Given the description of an element on the screen output the (x, y) to click on. 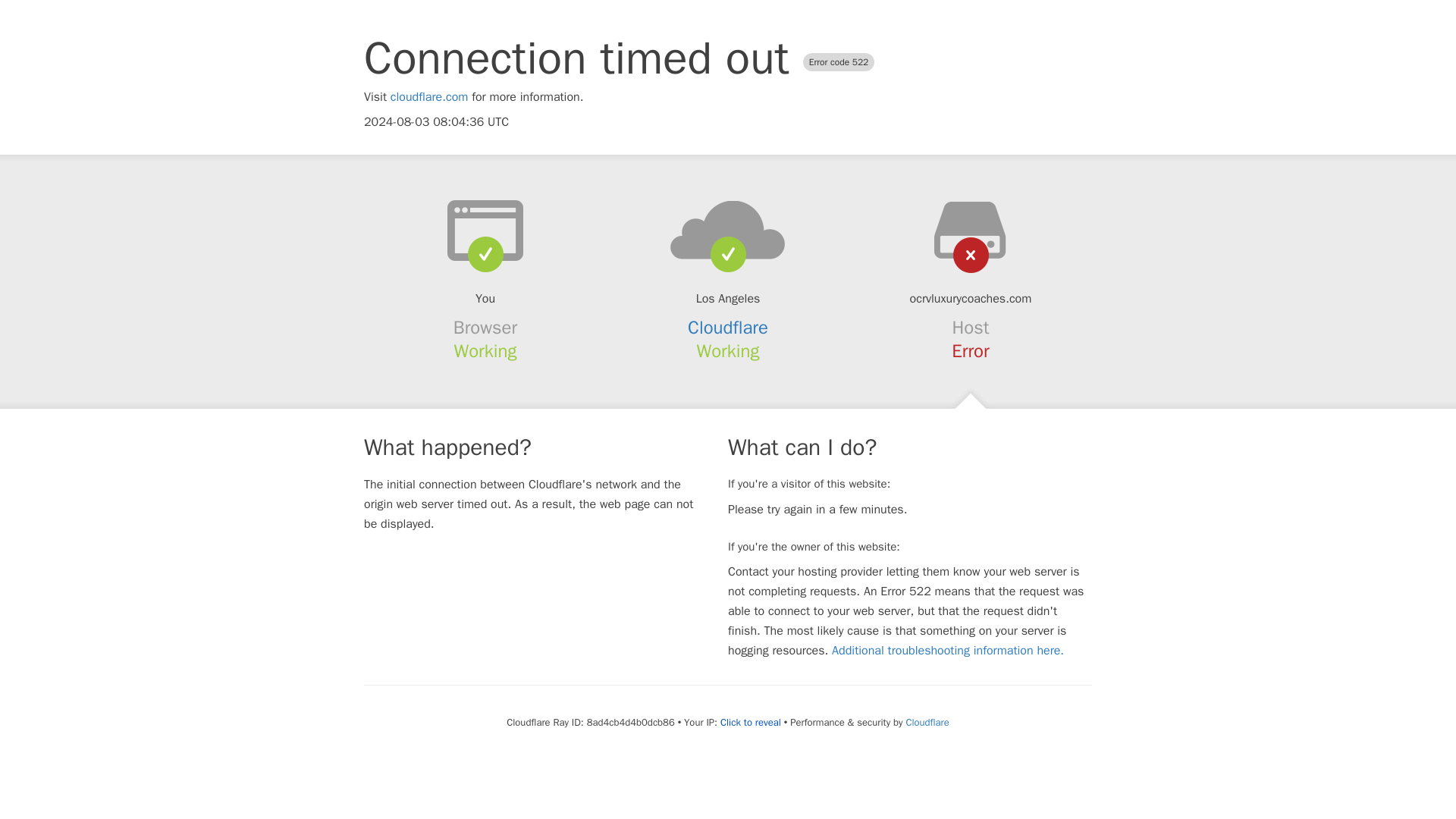
Click to reveal (750, 722)
Additional troubleshooting information here. (947, 650)
Cloudflare (927, 721)
cloudflare.com (429, 96)
Cloudflare (727, 327)
